Given the description of an element on the screen output the (x, y) to click on. 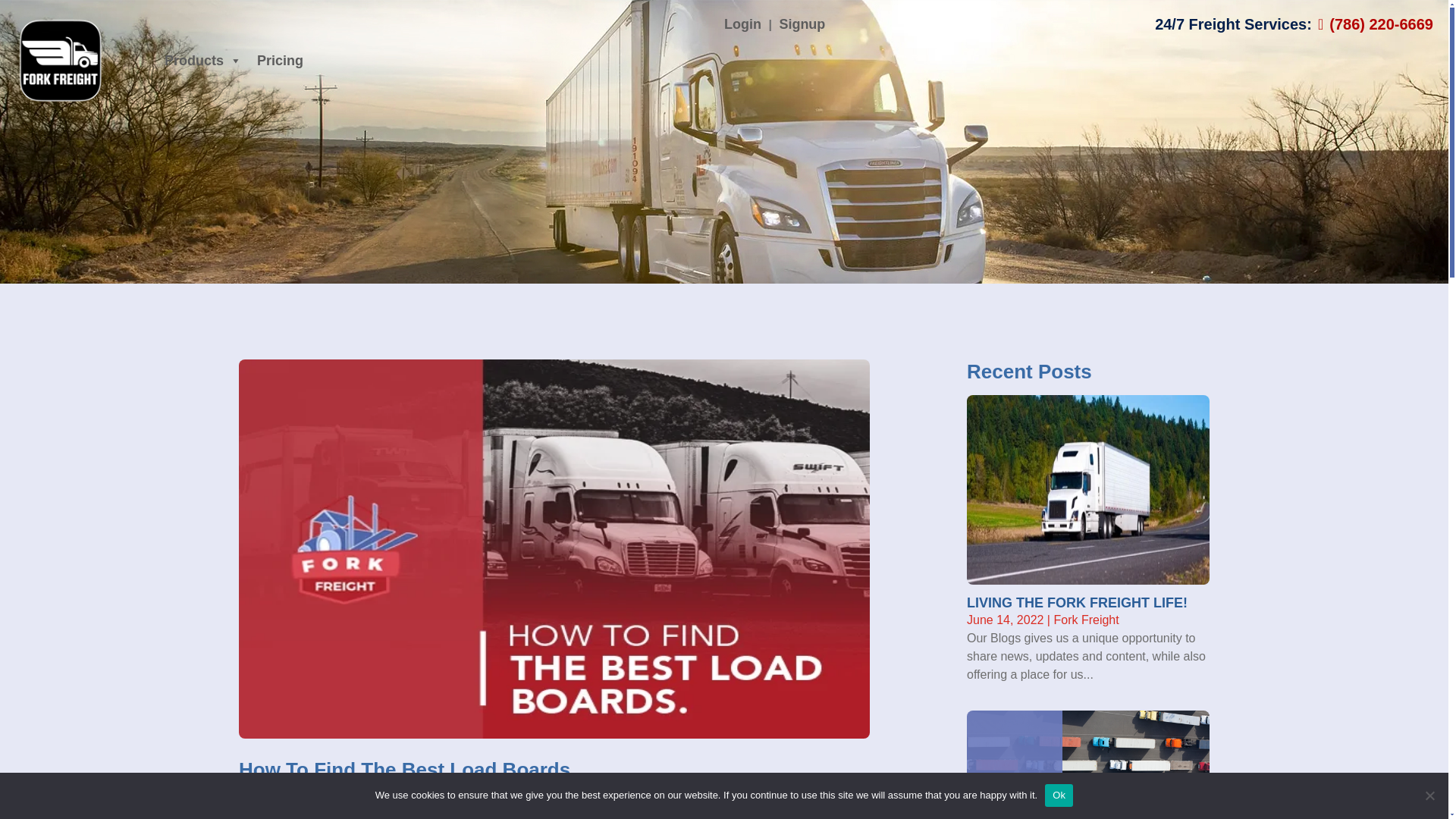
No (1429, 795)
Login (742, 23)
Pricing (279, 60)
Signup (801, 23)
Products (202, 60)
